Given the description of an element on the screen output the (x, y) to click on. 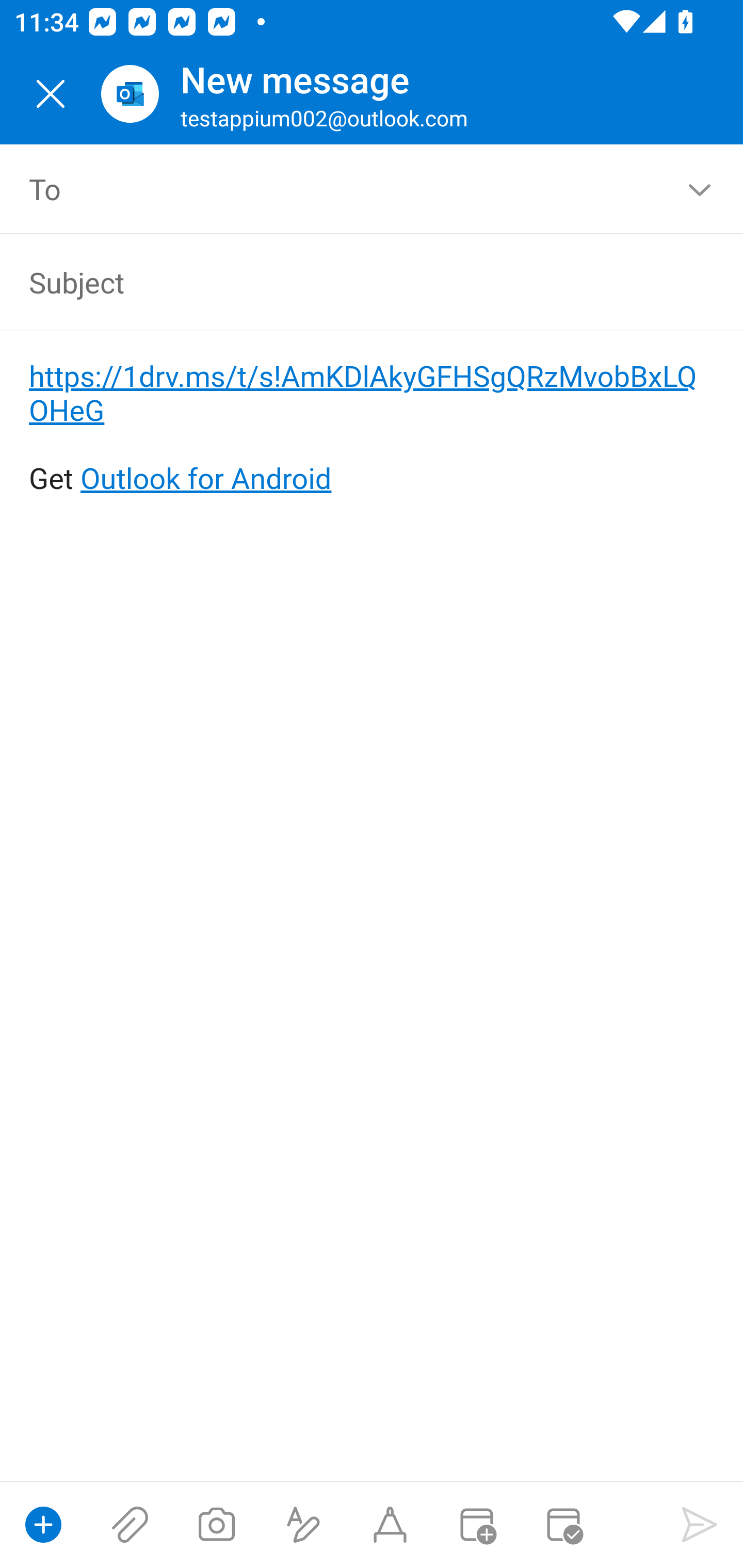
Close (50, 93)
Subject (342, 281)
Show compose options (43, 1524)
Attach files (129, 1524)
Take a photo (216, 1524)
Show formatting options (303, 1524)
Start Ink compose (389, 1524)
Convert to event (476, 1524)
Send availability (563, 1524)
Send (699, 1524)
